Given the description of an element on the screen output the (x, y) to click on. 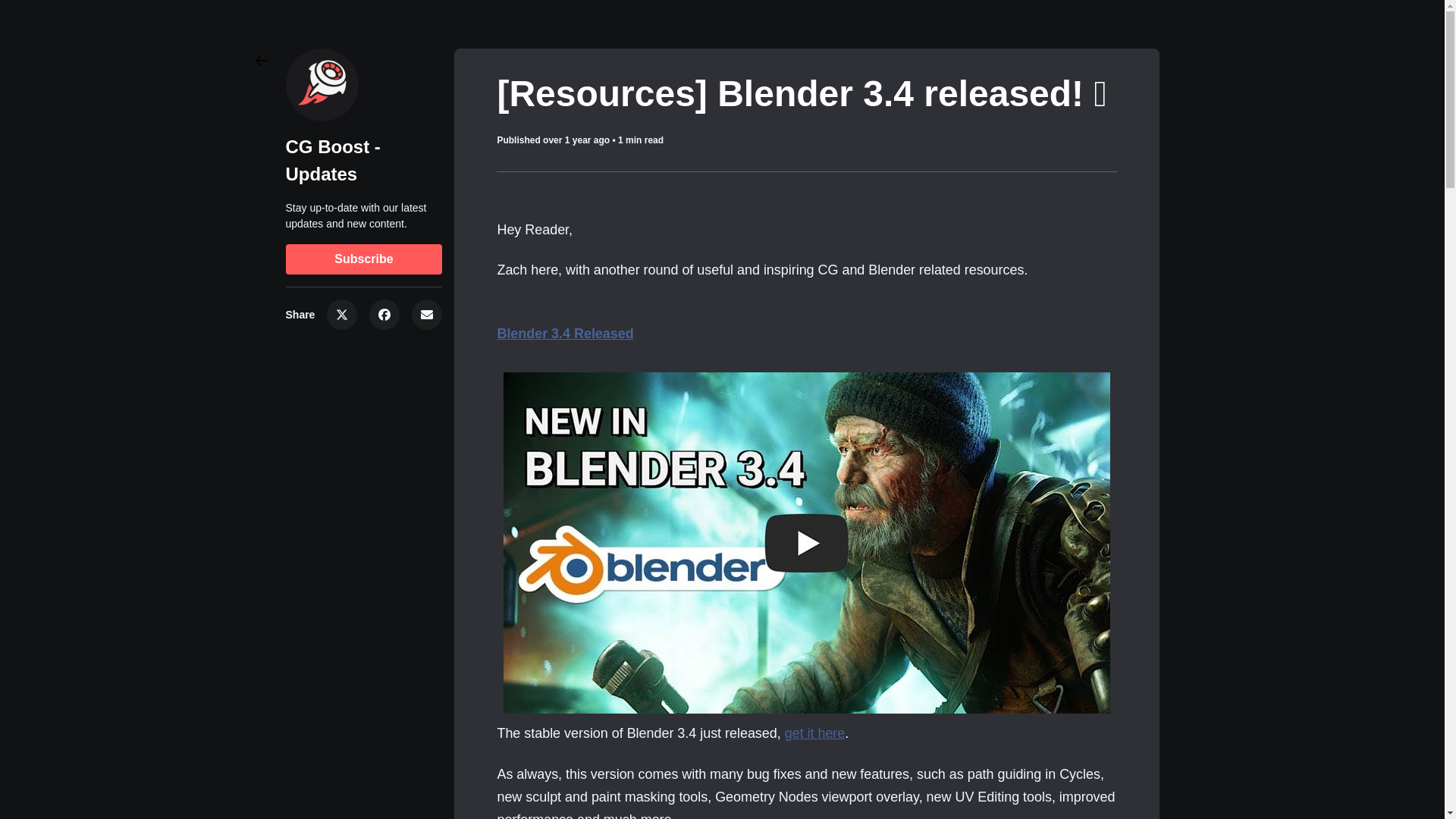
Blender 3.4 Released (564, 333)
Arrow Left (260, 60)
get it here (814, 733)
Arrow Left (260, 60)
Subscribe (363, 259)
